Given the description of an element on the screen output the (x, y) to click on. 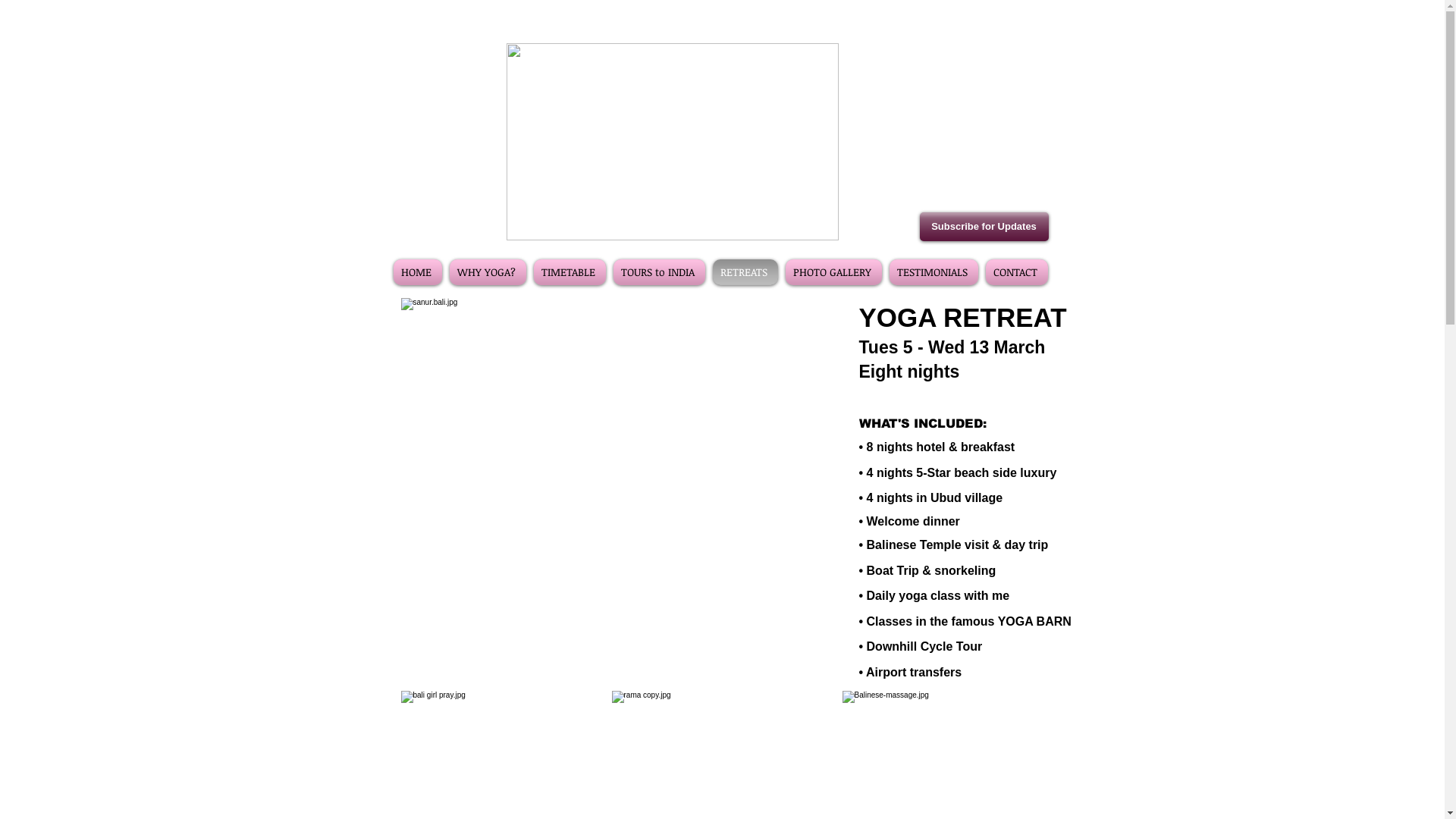
TESTIMONIALS Element type: text (933, 272)
CONTACT Element type: text (1014, 272)
Subscribe for Updates Element type: text (983, 226)
TIMETABLE Element type: text (568, 272)
WHY YOGA? Element type: text (487, 272)
bali girl pray.jpg Element type: hover (626, 486)
HOME Element type: text (418, 272)
TOURS to INDIA Element type: text (659, 272)
RETREATS Element type: text (744, 272)
PHOTO GALLERY Element type: text (832, 272)
flourish new logo.png Element type: hover (672, 141)
